Given the description of an element on the screen output the (x, y) to click on. 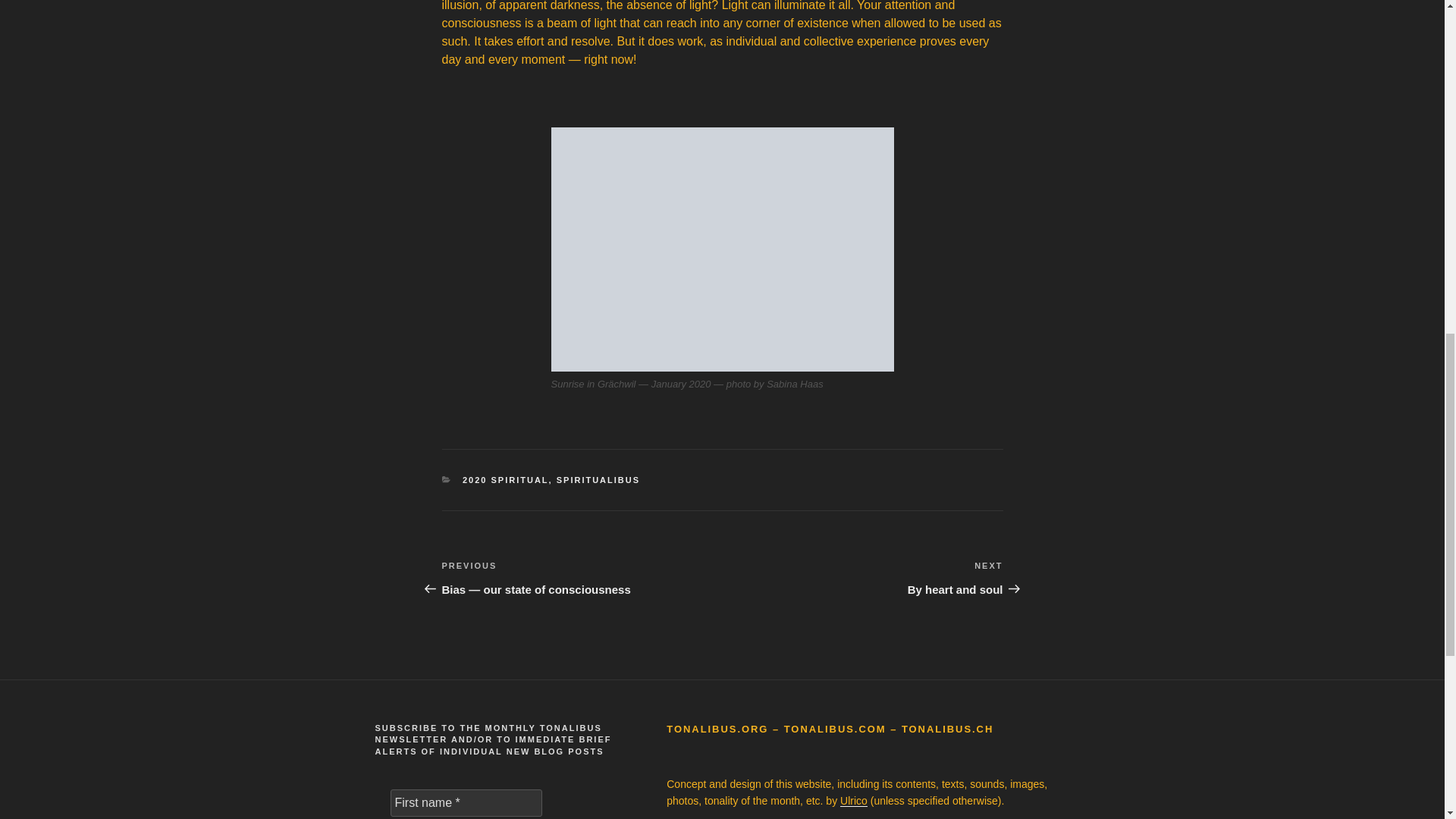
First name (465, 802)
